Given the description of an element on the screen output the (x, y) to click on. 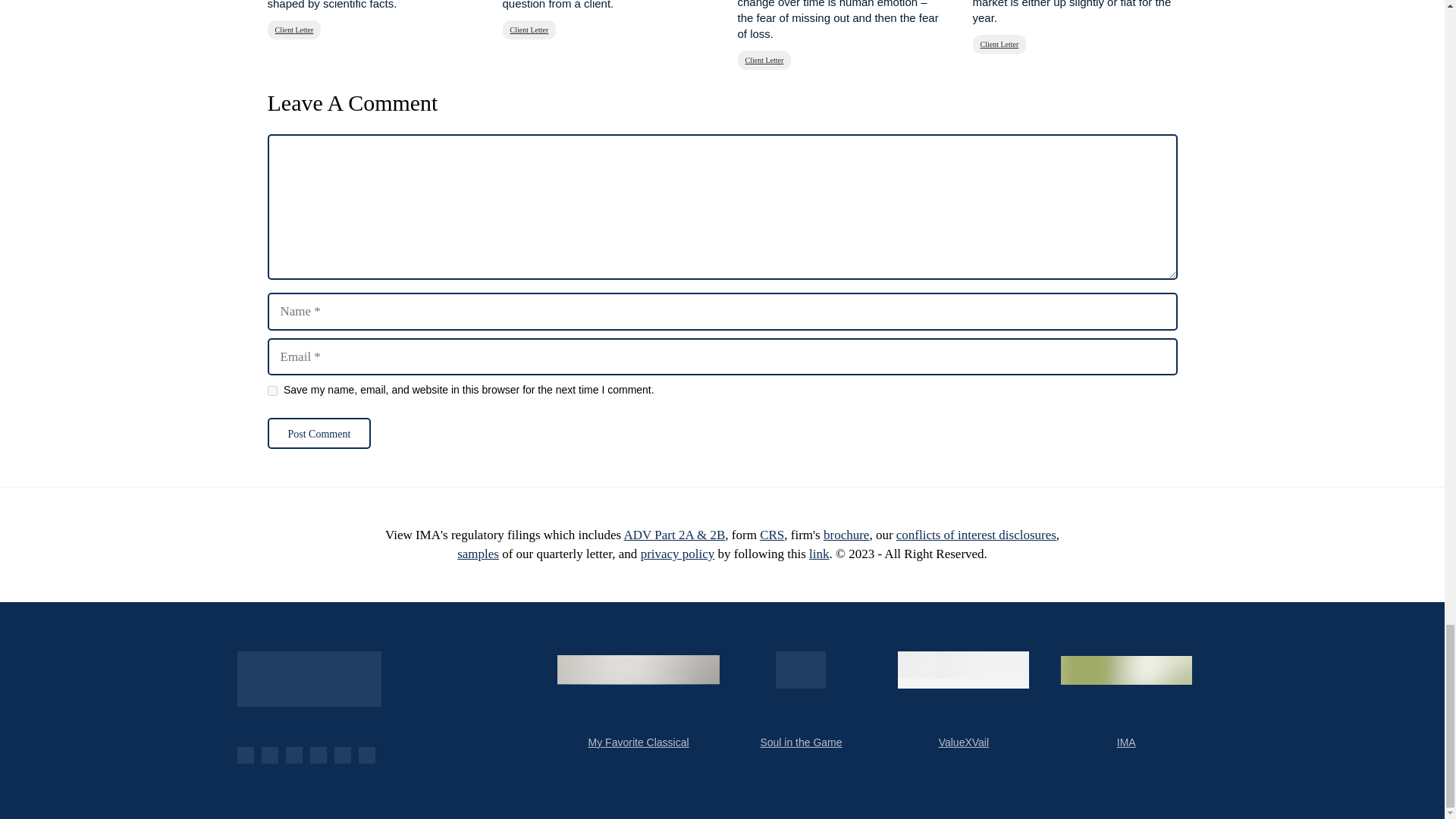
InstagramLogo (341, 754)
FacebookLogo (244, 754)
Post Comment (318, 432)
Client Letter (529, 29)
yes (271, 390)
The Intellectual Investor by Vitaliy Katsenelson (307, 678)
LinkedinLogo (317, 754)
TwitterLogo (293, 754)
TiktokLogo (366, 754)
Client Letter (763, 59)
